Given the description of an element on the screen output the (x, y) to click on. 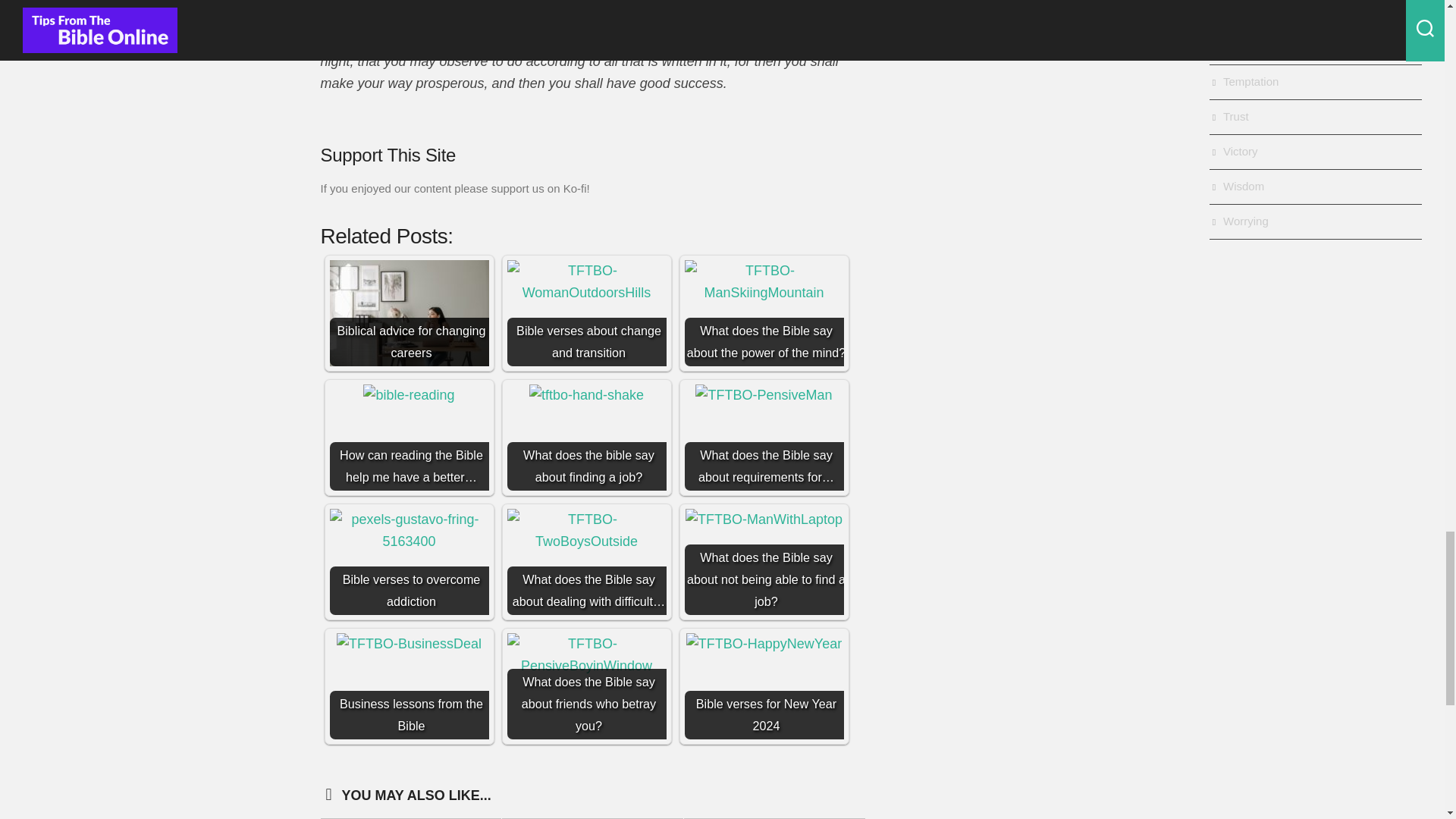
What does the bible say about finding a job? (586, 395)
Bible verses for New Year 2024 (763, 686)
Bible verses about change and transition (585, 313)
Bible verses to overcome addiction (408, 530)
Bible verses about change and transition (585, 281)
What does the Bible say about not being able to find a job? (764, 519)
Business lessons from the Bible (408, 644)
Bible verses to overcome addiction (408, 561)
Biblical advice for changing careers (408, 313)
What does the Bible say about not being able to find a job? (763, 561)
What does the Bible say about friends who betray you? (585, 686)
What does the bible say about finding a job? (585, 437)
